Given the description of an element on the screen output the (x, y) to click on. 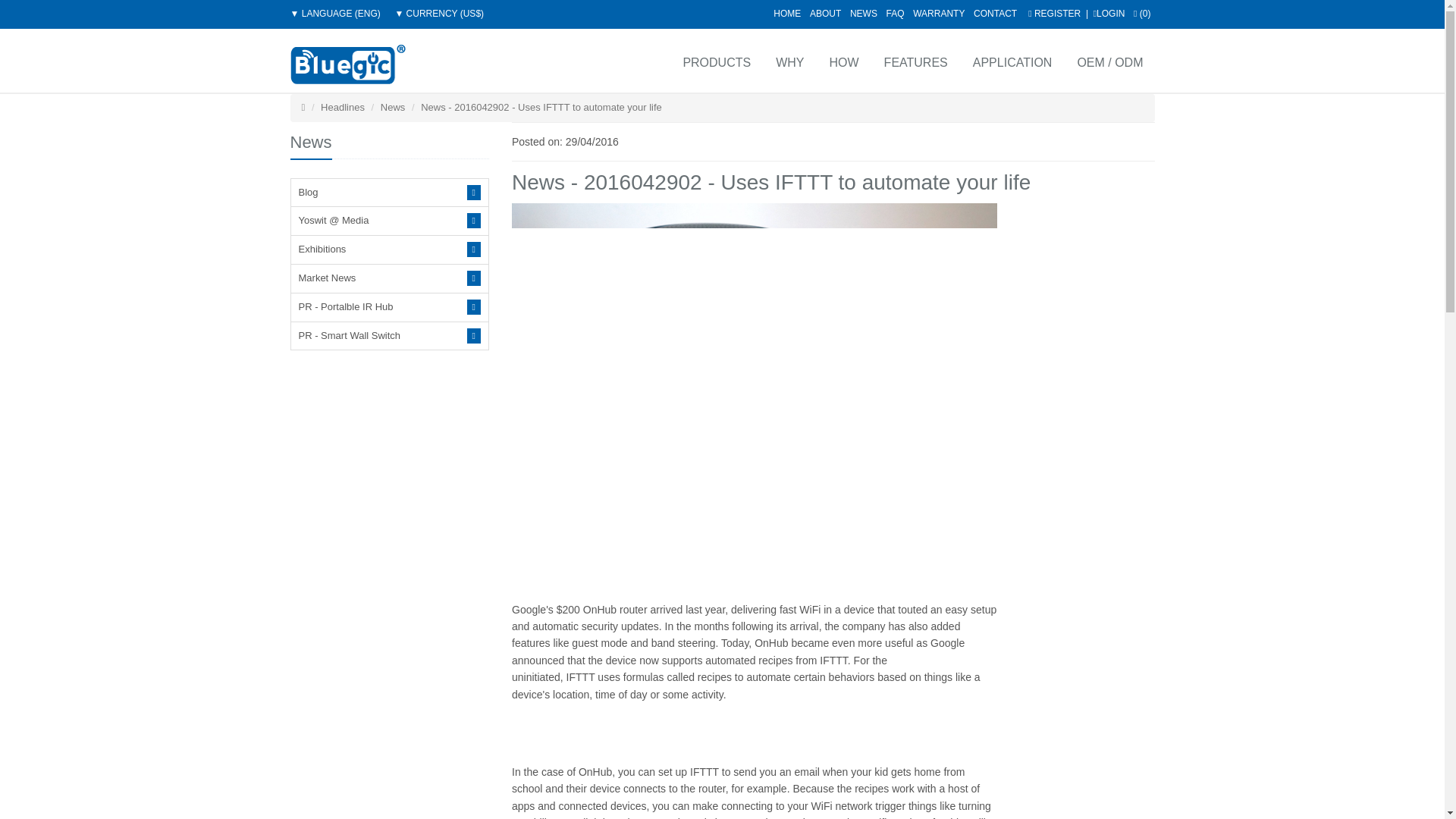
REGISTER (1053, 13)
FEATURES (914, 60)
Shopping Cart (1142, 13)
PRODUCTS (714, 60)
ABOUT (825, 13)
NEWS (863, 13)
WARRANTY (937, 13)
APPLICATION (1011, 60)
HOME (786, 13)
CONTACT (995, 13)
